Given the description of an element on the screen output the (x, y) to click on. 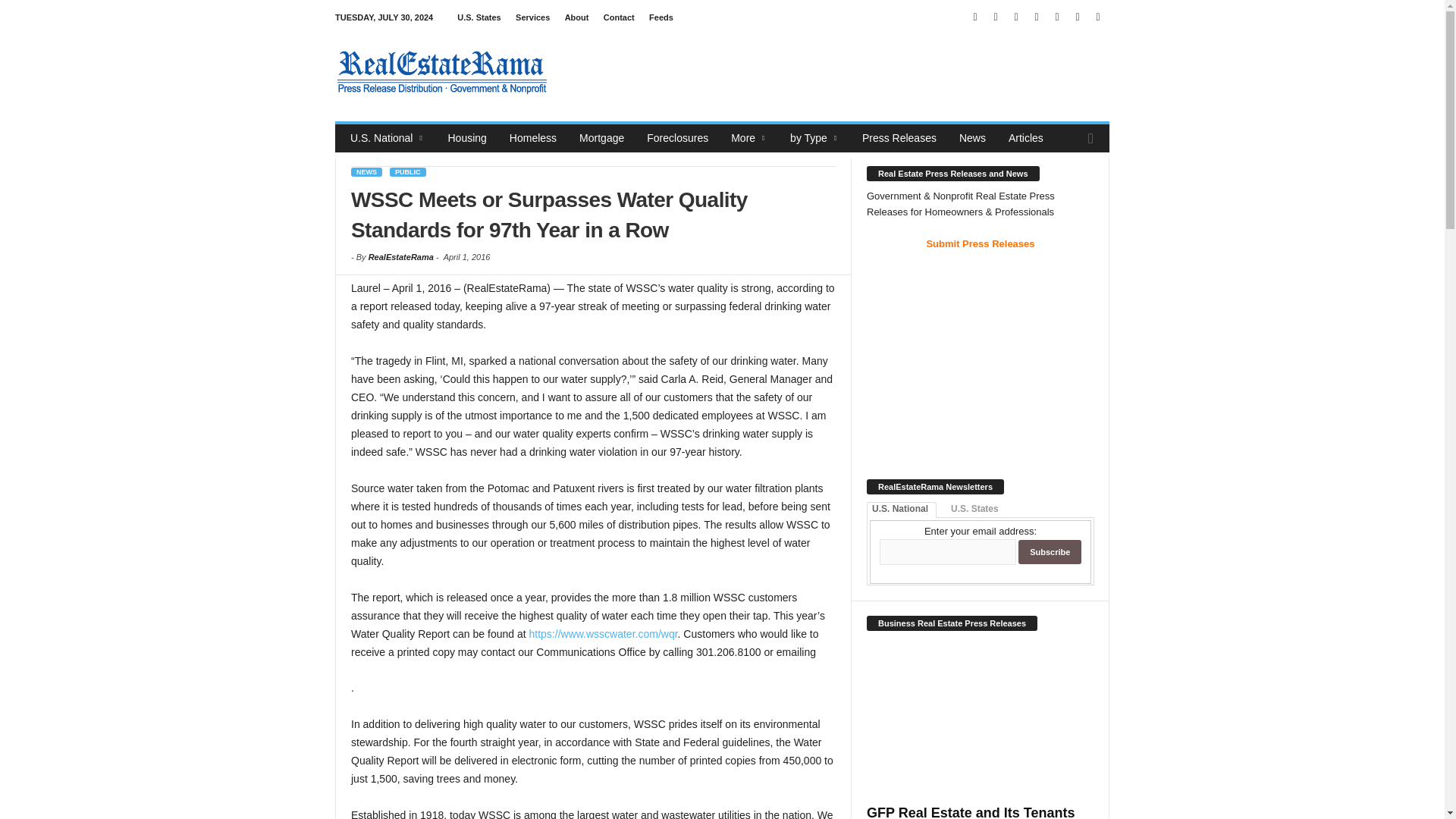
Subscribe (1049, 551)
Twitter (1077, 17)
Pinterest (1036, 17)
Youtube (1097, 17)
RSS (1056, 17)
Facebook (975, 17)
Mail (1016, 17)
Linkedin (995, 17)
